Given the description of an element on the screen output the (x, y) to click on. 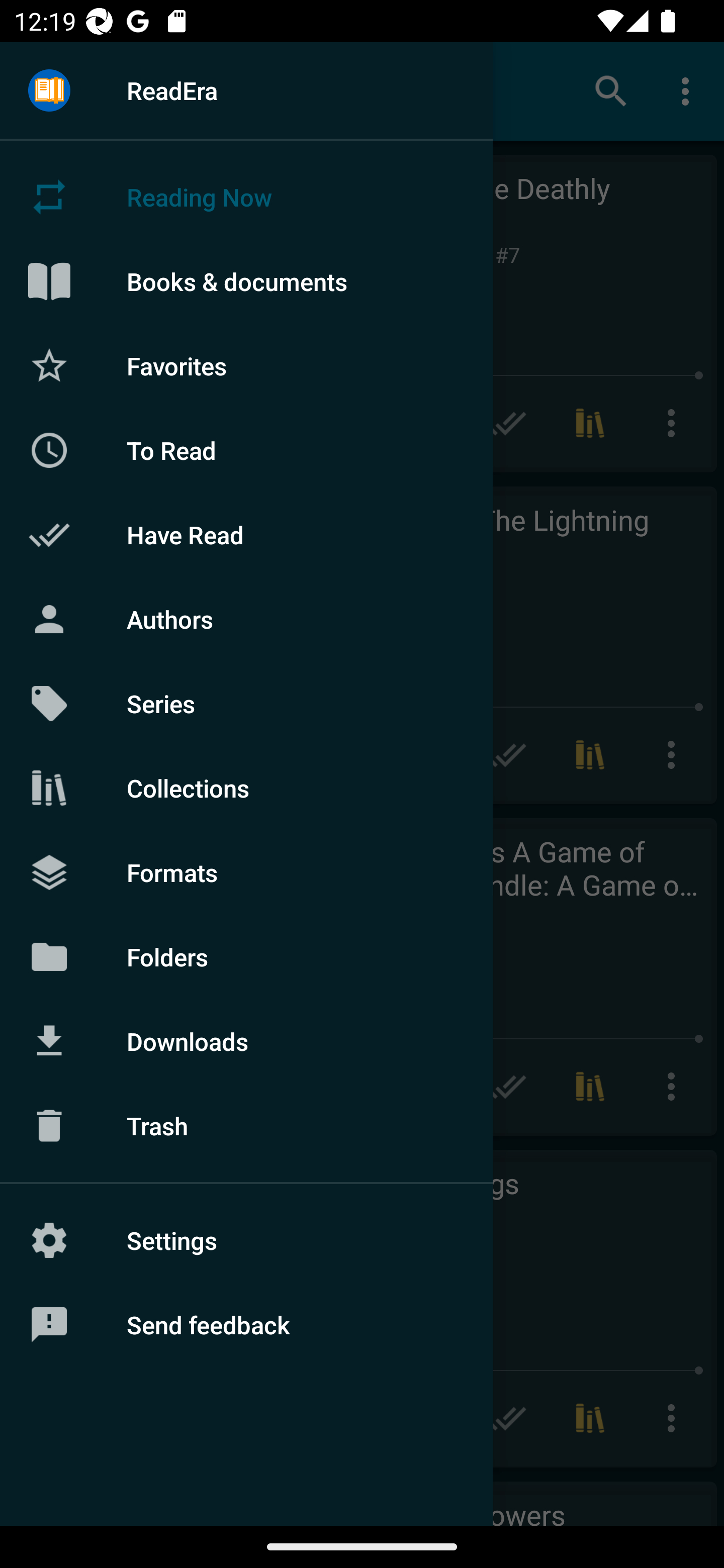
Menu (49, 91)
ReadEra (246, 89)
Search books & documents (611, 90)
More options (688, 90)
Reading Now (246, 197)
Books & documents (246, 281)
Favorites (246, 365)
To Read (246, 449)
Have Read (246, 534)
Authors (246, 619)
Series (246, 703)
Collections (246, 787)
Formats (246, 871)
Folders (246, 956)
Downloads (246, 1040)
Trash (246, 1125)
Settings (246, 1239)
Send feedback (246, 1324)
